Given the description of an element on the screen output the (x, y) to click on. 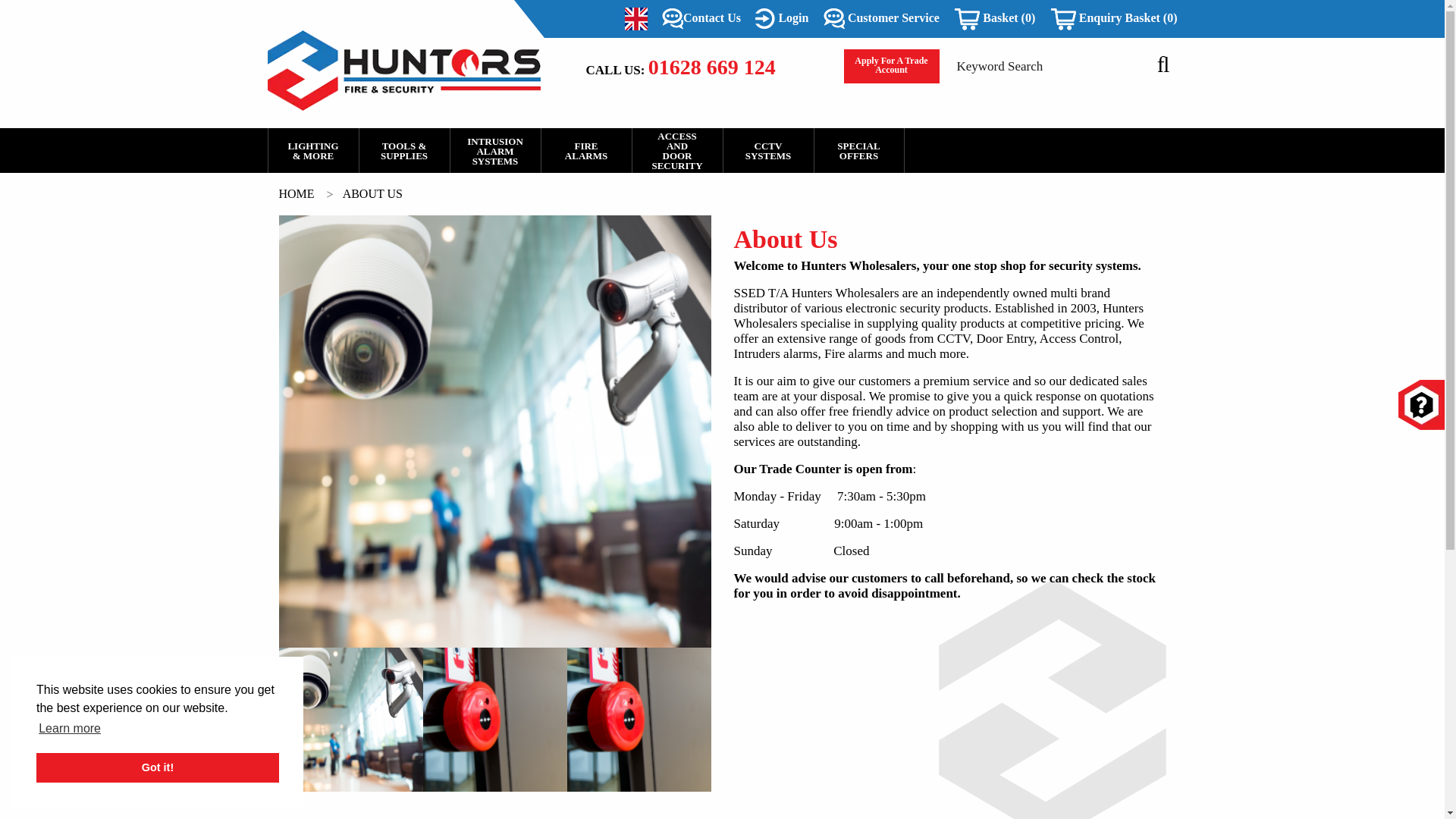
01628 669 124 (711, 66)
Login (781, 17)
Customer Service (881, 17)
Apply For A Trade Account (891, 66)
Learn more (69, 728)
INTRUSION ALARM SYSTEMS (494, 149)
About Us (372, 193)
Contact Us (701, 17)
Got it! (157, 767)
Home (298, 193)
